Given the description of an element on the screen output the (x, y) to click on. 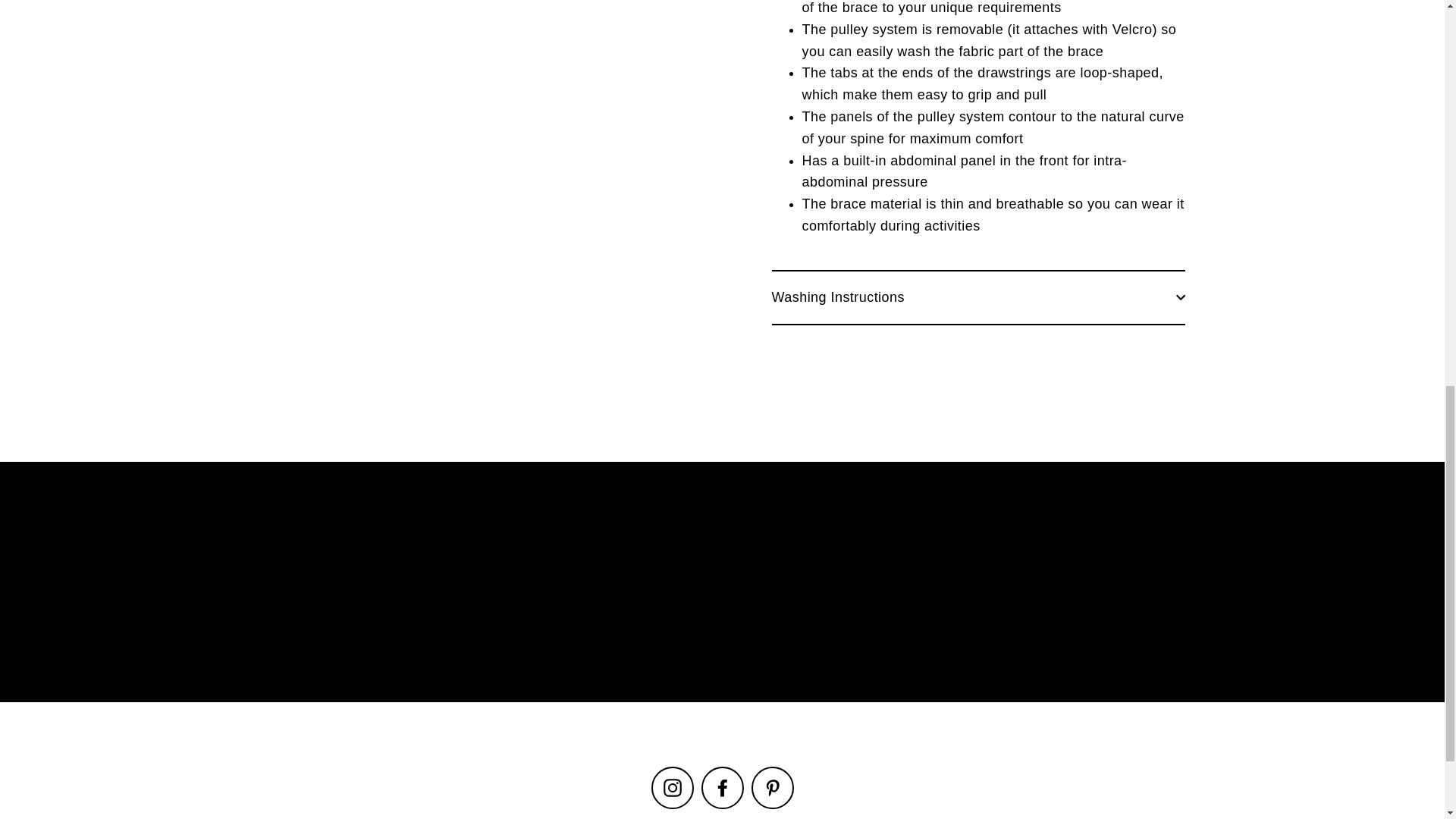
Instagram (671, 787)
SwiftBrace on Pinterest (772, 787)
SwiftBrace on Facebook (721, 787)
Pinterest (772, 787)
SwiftBrace on Instagram (671, 787)
Washing Instructions (978, 296)
MENU (162, 46)
Facebook (721, 787)
